Given the description of an element on the screen output the (x, y) to click on. 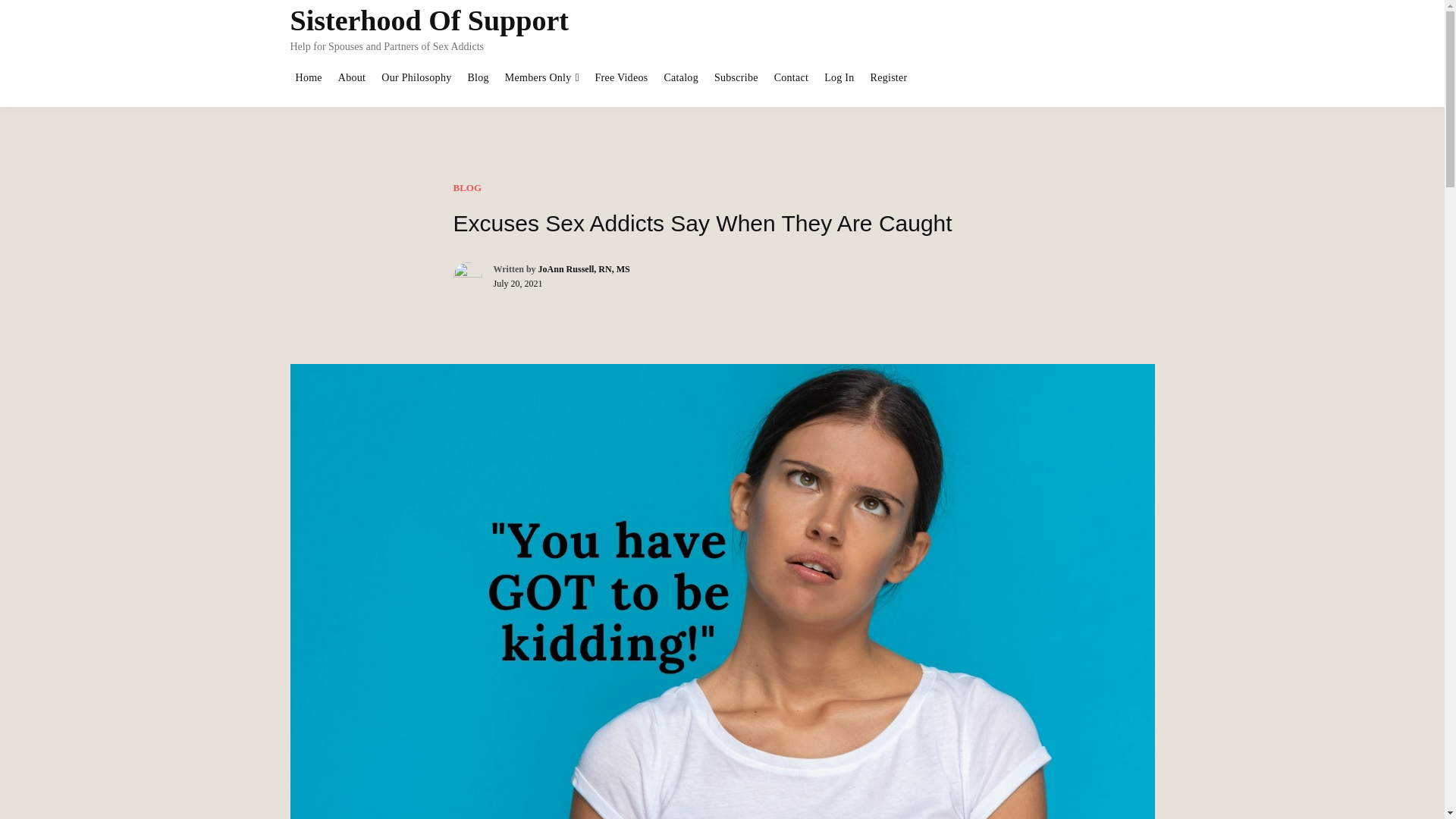
Catalog (680, 78)
BLOG (466, 187)
Our Philosophy (416, 78)
Free Videos (620, 78)
Sisterhood Of Support (428, 20)
JoAnn Russell, RN, MS (584, 268)
Members Only (537, 78)
Subscribe (735, 78)
Register (888, 78)
Contact (790, 78)
July 20, 2021 (517, 283)
